Given the description of an element on the screen output the (x, y) to click on. 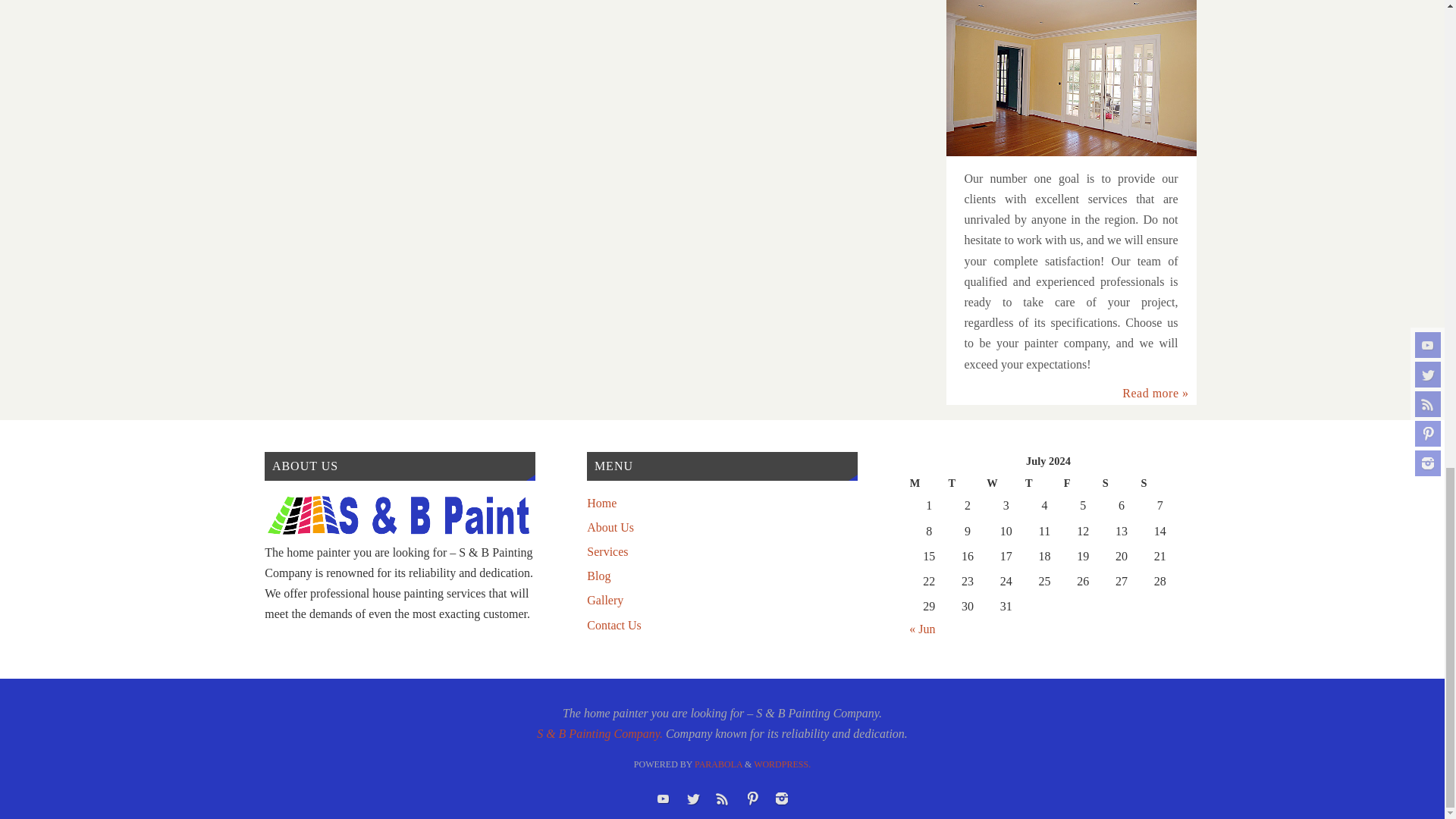
A Flawless Painting Service for You (1071, 77)
